Given the description of an element on the screen output the (x, y) to click on. 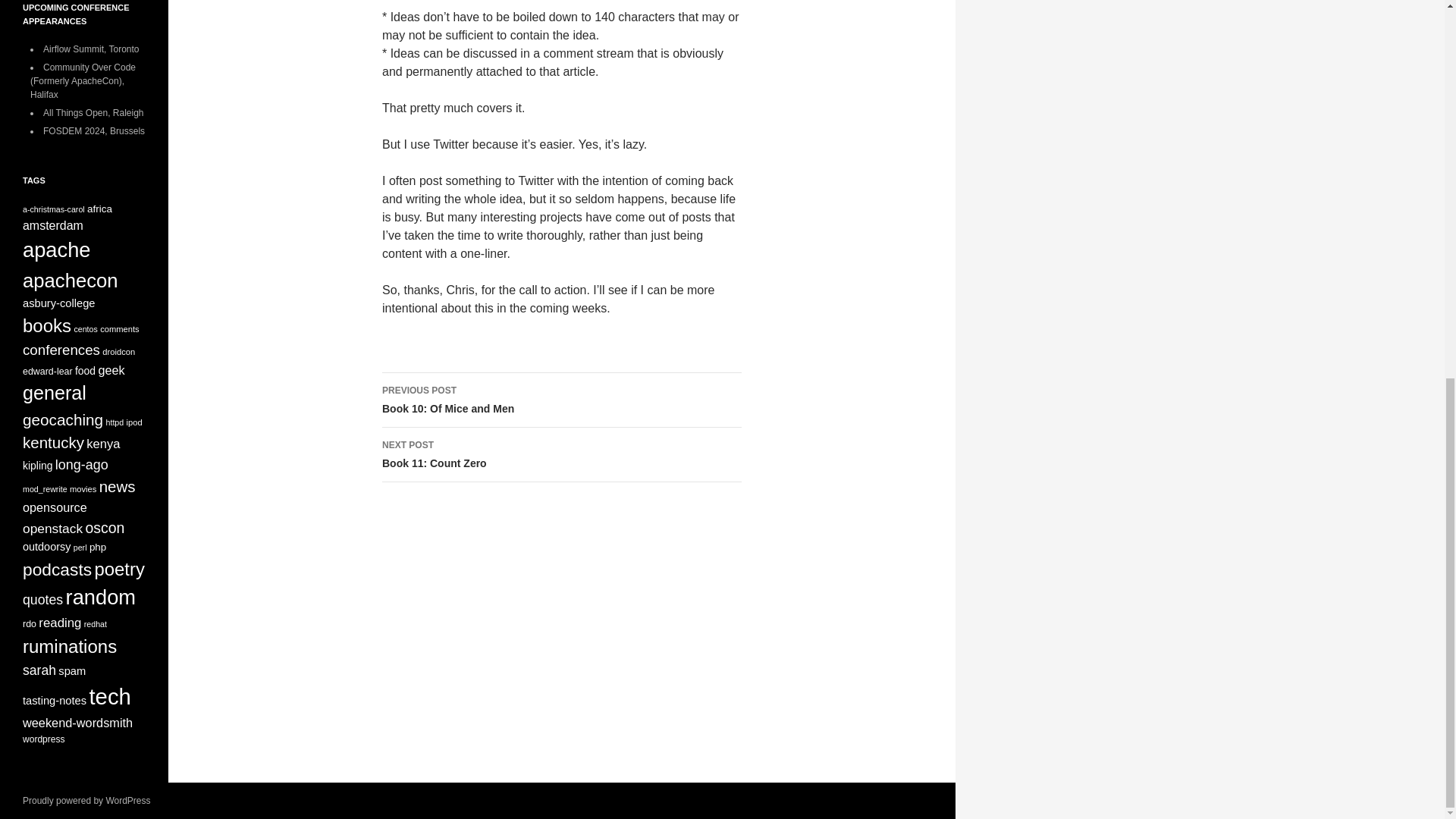
books (47, 325)
food (85, 370)
a-christmas-carol (53, 208)
africa (99, 208)
edward-lear (47, 371)
asbury-college (59, 303)
geek (110, 369)
droidcon (118, 351)
centos (561, 454)
